Given the description of an element on the screen output the (x, y) to click on. 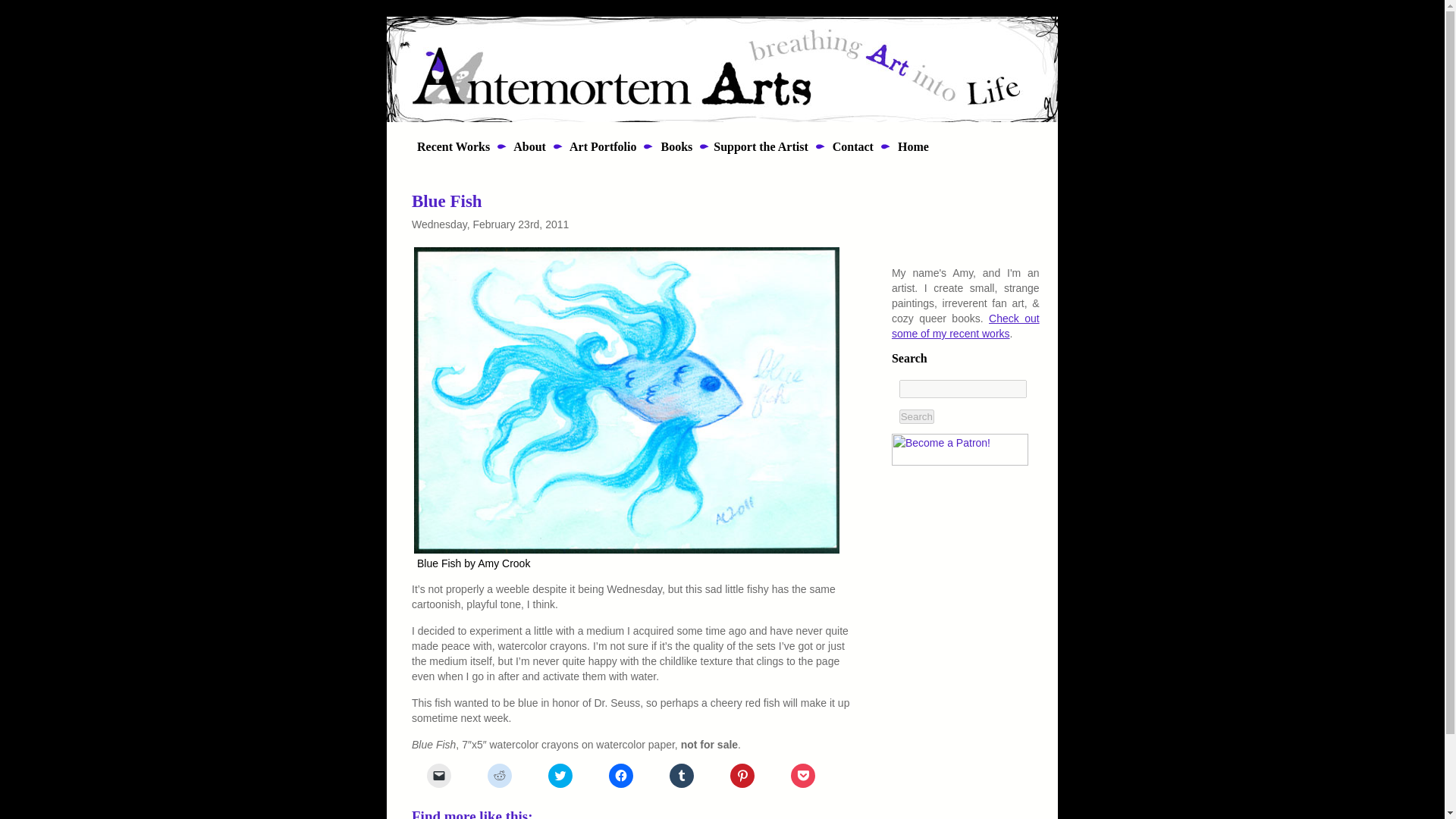
Click to share on Twitter (560, 775)
Check out some of my recent works (965, 325)
Talk to Me (851, 146)
 Home (911, 146)
Support the Artist (760, 146)
Search (916, 416)
Become a Patron! (959, 450)
About the Artist (528, 146)
Click to share on Pocket (802, 775)
   Recent Works (448, 146)
Click to share on Facebook (620, 775)
 Art Portfolio (602, 146)
Art Portfolio (602, 146)
Click to share on Reddit (499, 775)
Myriad Ways to be Awesome (760, 146)
